Given the description of an element on the screen output the (x, y) to click on. 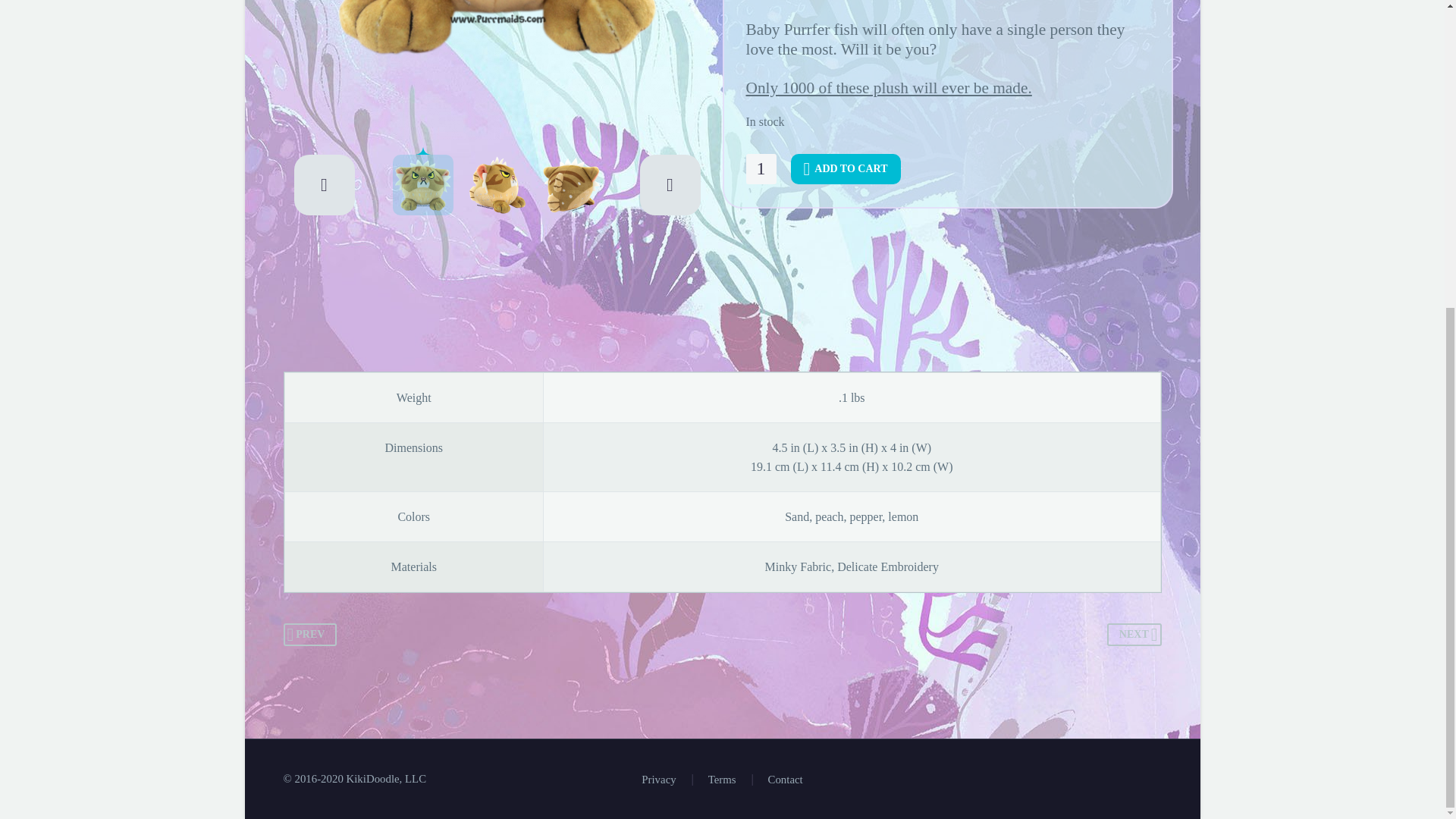
1 (760, 168)
